Given the description of an element on the screen output the (x, y) to click on. 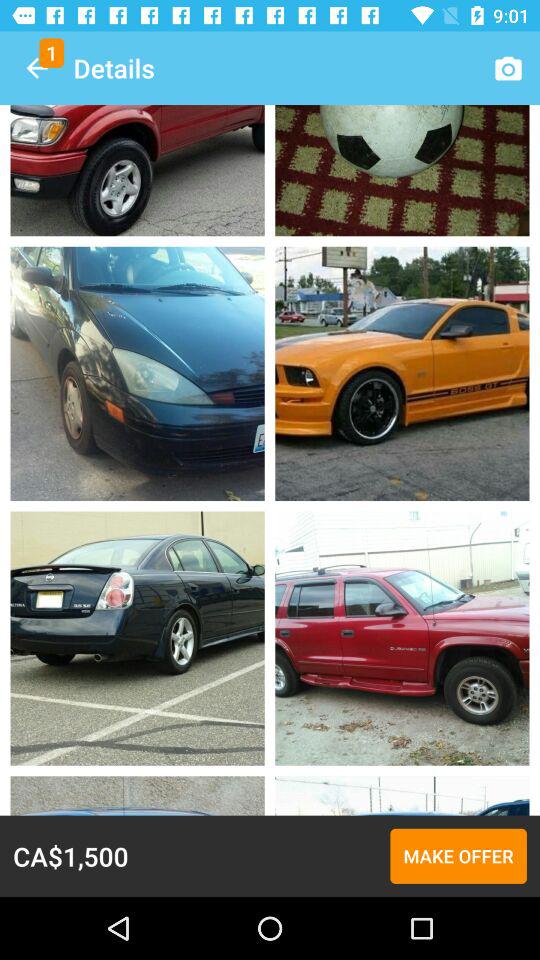
scroll to make offer item (458, 855)
